Given the description of an element on the screen output the (x, y) to click on. 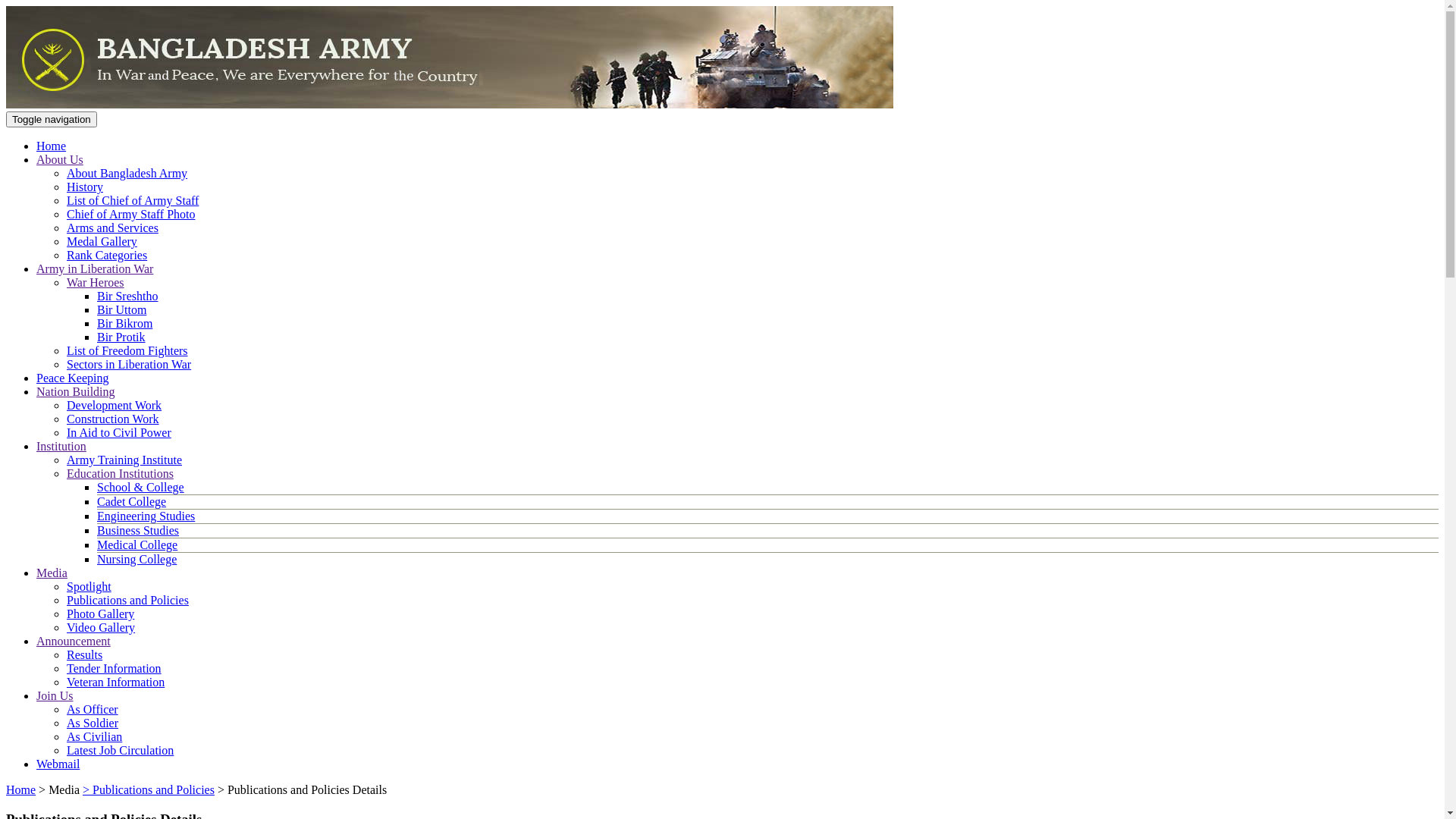
Bir Bikrom Element type: text (124, 322)
Video Gallery Element type: text (100, 627)
Bir Sreshtho Element type: text (127, 295)
Development Work Element type: text (113, 404)
About Us Element type: text (59, 159)
Sectors in Liberation War Element type: text (128, 363)
Bir Protik Element type: text (121, 336)
Cadet College Element type: text (131, 501)
Business Studies Element type: text (137, 530)
As Civilian Element type: text (94, 736)
Latest Job Circulation Element type: text (119, 749)
List of Freedom Fighters Element type: text (127, 350)
Medal Gallery Element type: text (101, 241)
About Bangladesh Army Element type: text (126, 172)
As Soldier Element type: text (92, 722)
Engineering Studies Element type: text (145, 515)
Chief of Army Staff Photo Element type: text (130, 213)
In Aid to Civil Power Element type: text (118, 432)
Spotlight Element type: text (88, 586)
Media Element type: text (51, 572)
Peace Keeping Element type: text (72, 377)
Toggle navigation Element type: text (51, 119)
Join Us Element type: text (54, 695)
> Publications and Policies Element type: text (148, 789)
Publications and Policies Element type: text (127, 599)
Army in Liberation War Element type: text (94, 268)
Tender Information Element type: text (113, 668)
Bir Uttom Element type: text (121, 309)
Rank Categories Element type: text (106, 254)
Education Institutions Element type: text (119, 473)
Institution Element type: text (61, 445)
Home Element type: text (50, 145)
Results Element type: text (84, 654)
Webmail Element type: text (57, 763)
Medical College Element type: text (137, 544)
School & College Element type: text (140, 486)
Nation Building Element type: text (75, 391)
Arms and Services Element type: text (112, 227)
Construction Work Element type: text (112, 418)
History Element type: text (84, 186)
Home Element type: text (20, 789)
Photo Gallery Element type: text (100, 613)
Army Training Institute Element type: text (124, 459)
Announcement Element type: text (73, 640)
Veteran Information Element type: text (115, 681)
List of Chief of Army Staff Element type: text (132, 200)
War Heroes Element type: text (95, 282)
Nursing College Element type: text (136, 558)
As Officer Element type: text (92, 708)
